Given the description of an element on the screen output the (x, y) to click on. 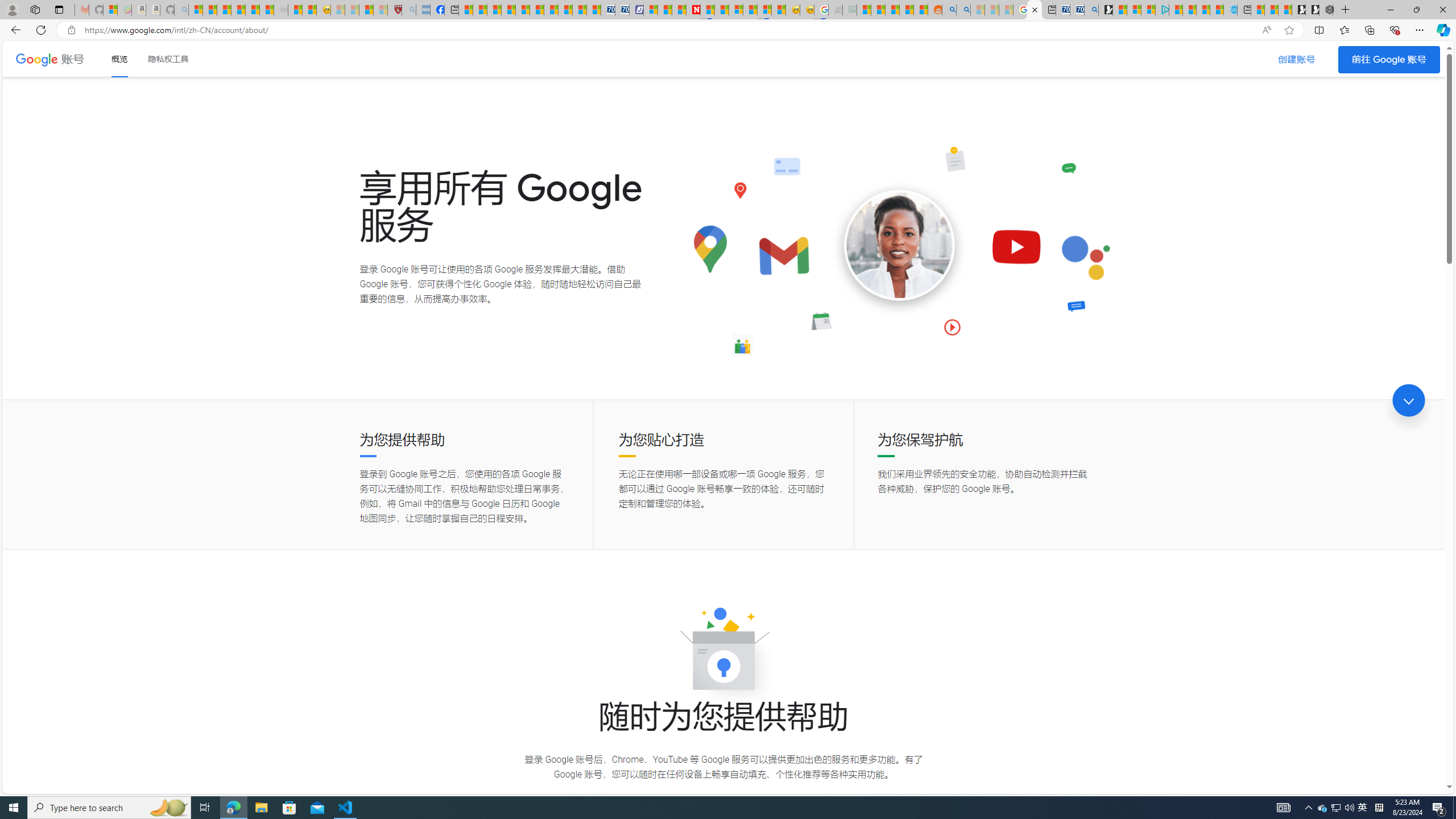
Student Loan Update: Forgiveness Program Ends This Month (905, 9)
